Given the description of an element on the screen output the (x, y) to click on. 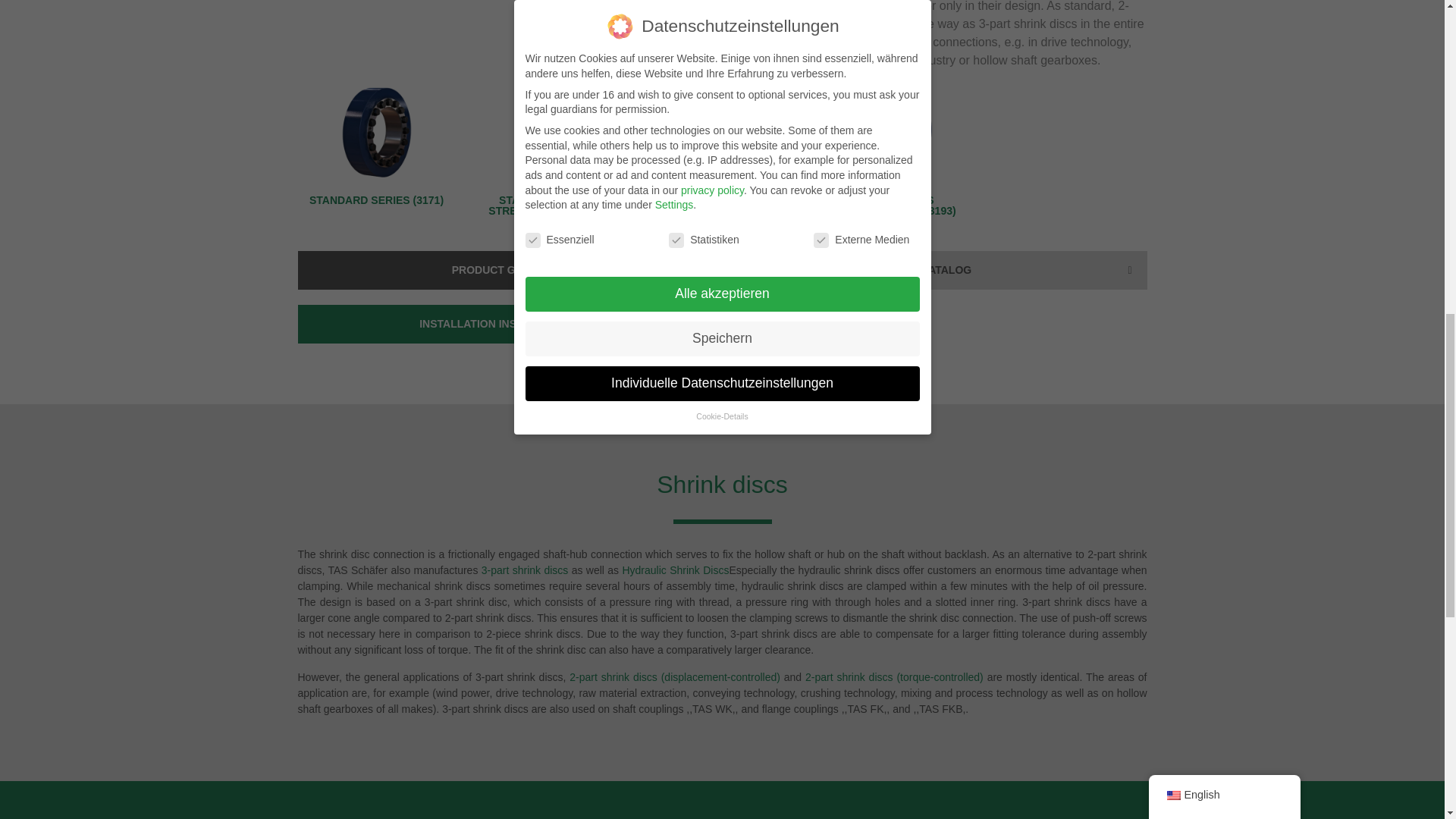
3-part shrink discs (525, 570)
PRODUCT GROUP (505, 269)
INSTALLATION INSTRUCTIONS (505, 323)
Hydraulic Shrink Discs (675, 570)
FULL CATALOG (938, 269)
